Given the description of an element on the screen output the (x, y) to click on. 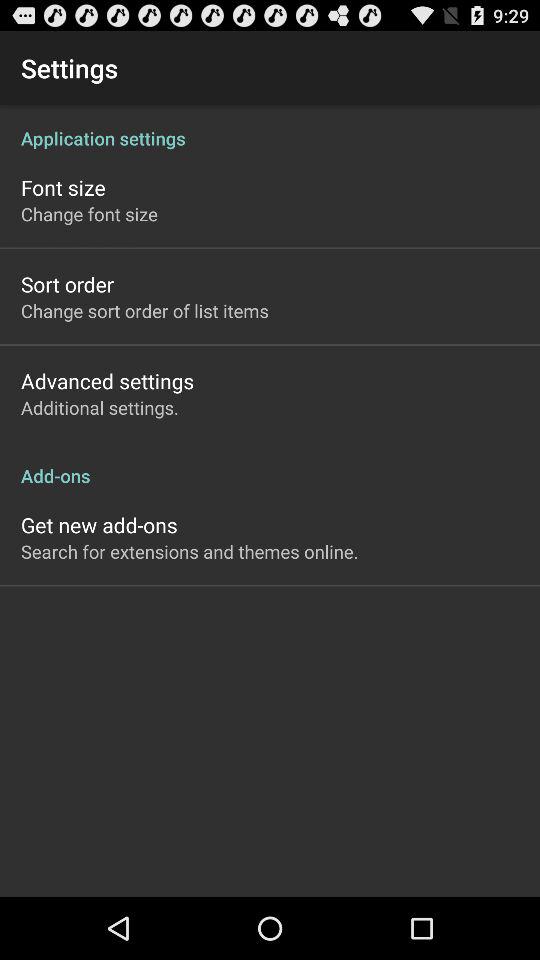
tap the search for extensions item (189, 551)
